Given the description of an element on the screen output the (x, y) to click on. 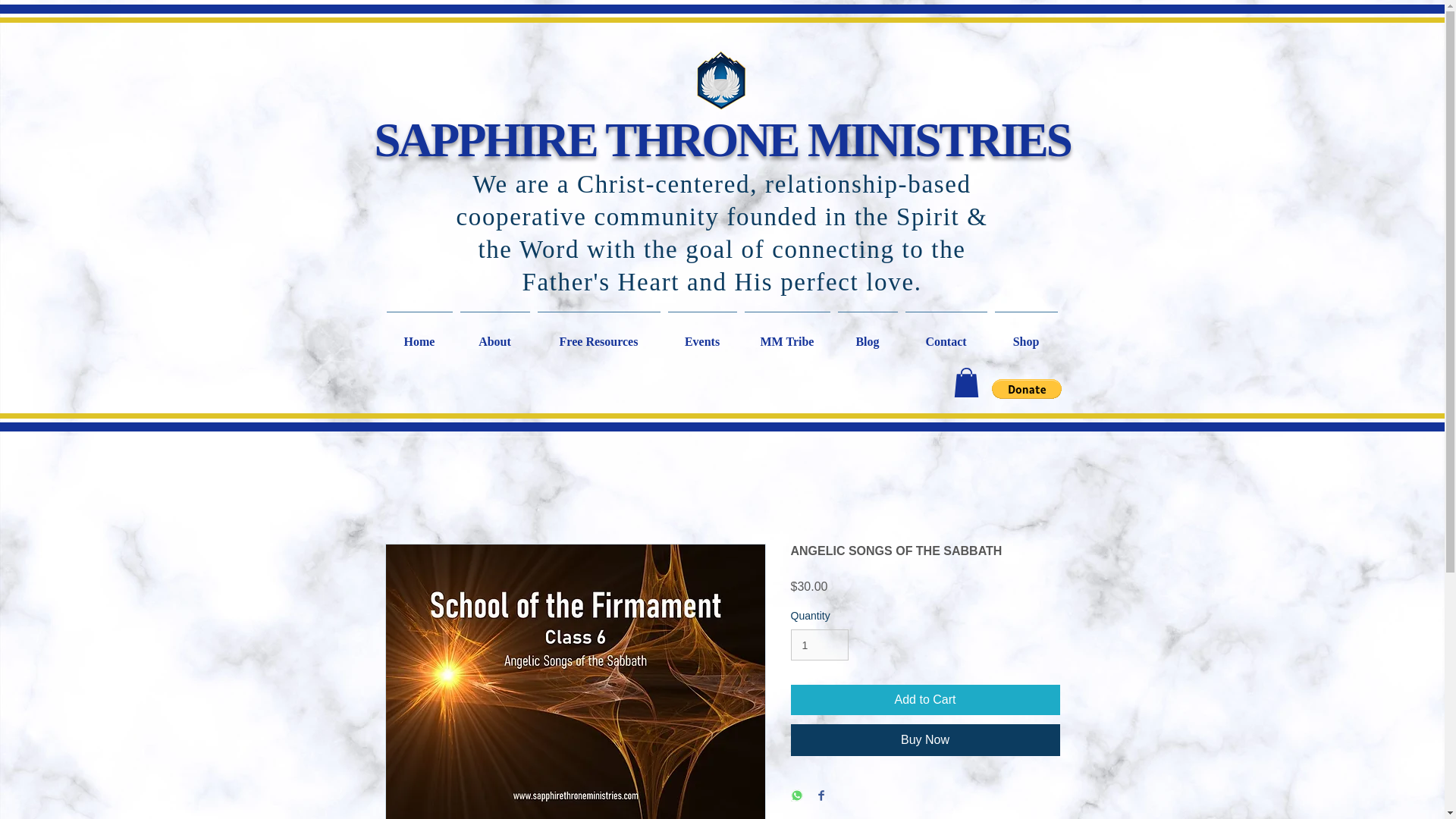
Add to Cart (924, 699)
1 (818, 644)
Buy Now (924, 739)
Blog (867, 335)
MM Tribe (785, 335)
Free Resources (598, 335)
Shop (1025, 335)
Events (702, 335)
Contact (945, 335)
SAPPHIRE THRONE MINISTRIES (722, 139)
Home (418, 335)
About (495, 335)
